Given the description of an element on the screen output the (x, y) to click on. 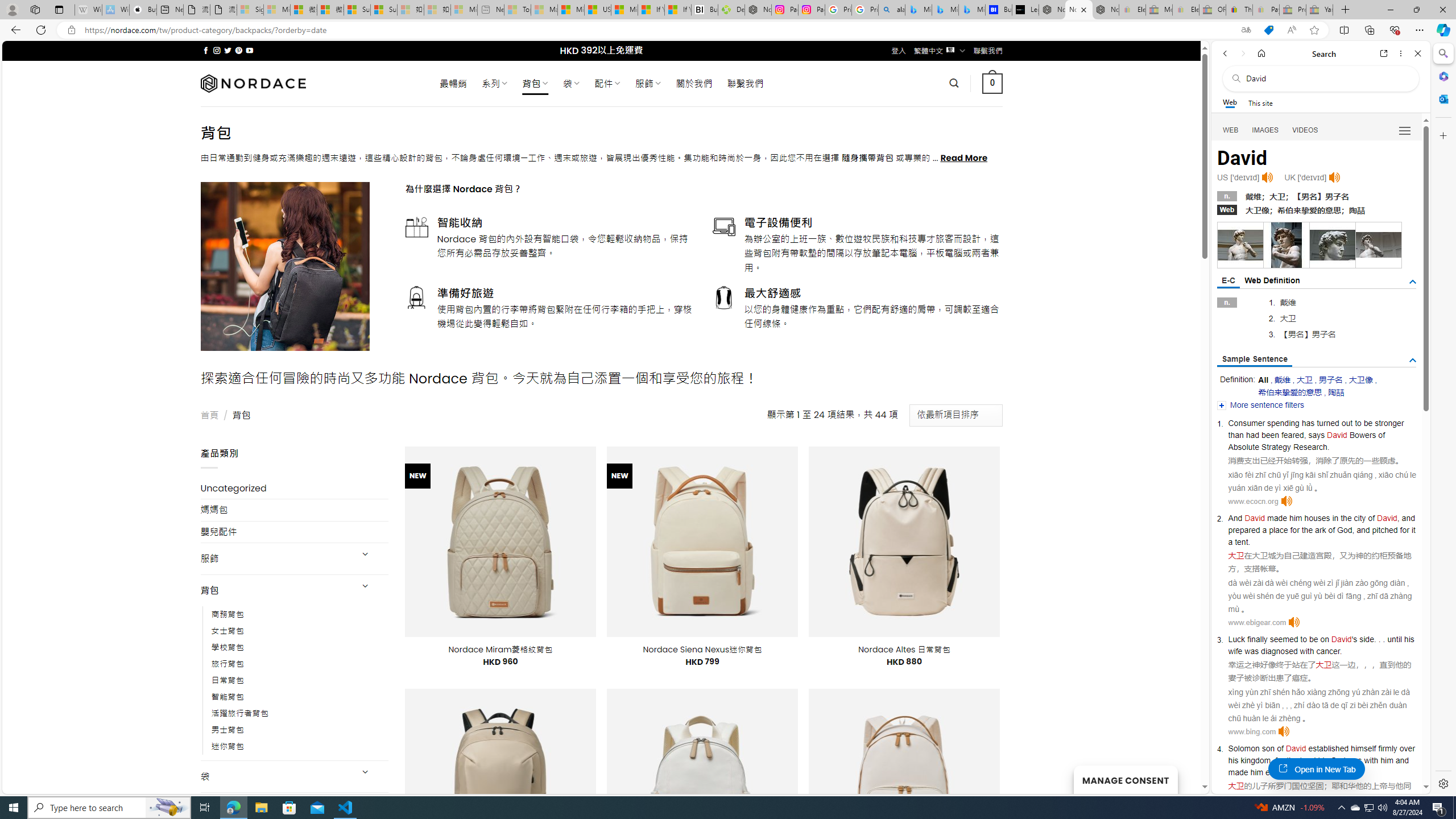
Buy iPad - Apple (143, 9)
Uncategorized (294, 488)
IMAGES (1265, 130)
Top Stories - MSN - Sleeping (517, 9)
Luck (1235, 638)
wife (1235, 651)
